Given the description of an element on the screen output the (x, y) to click on. 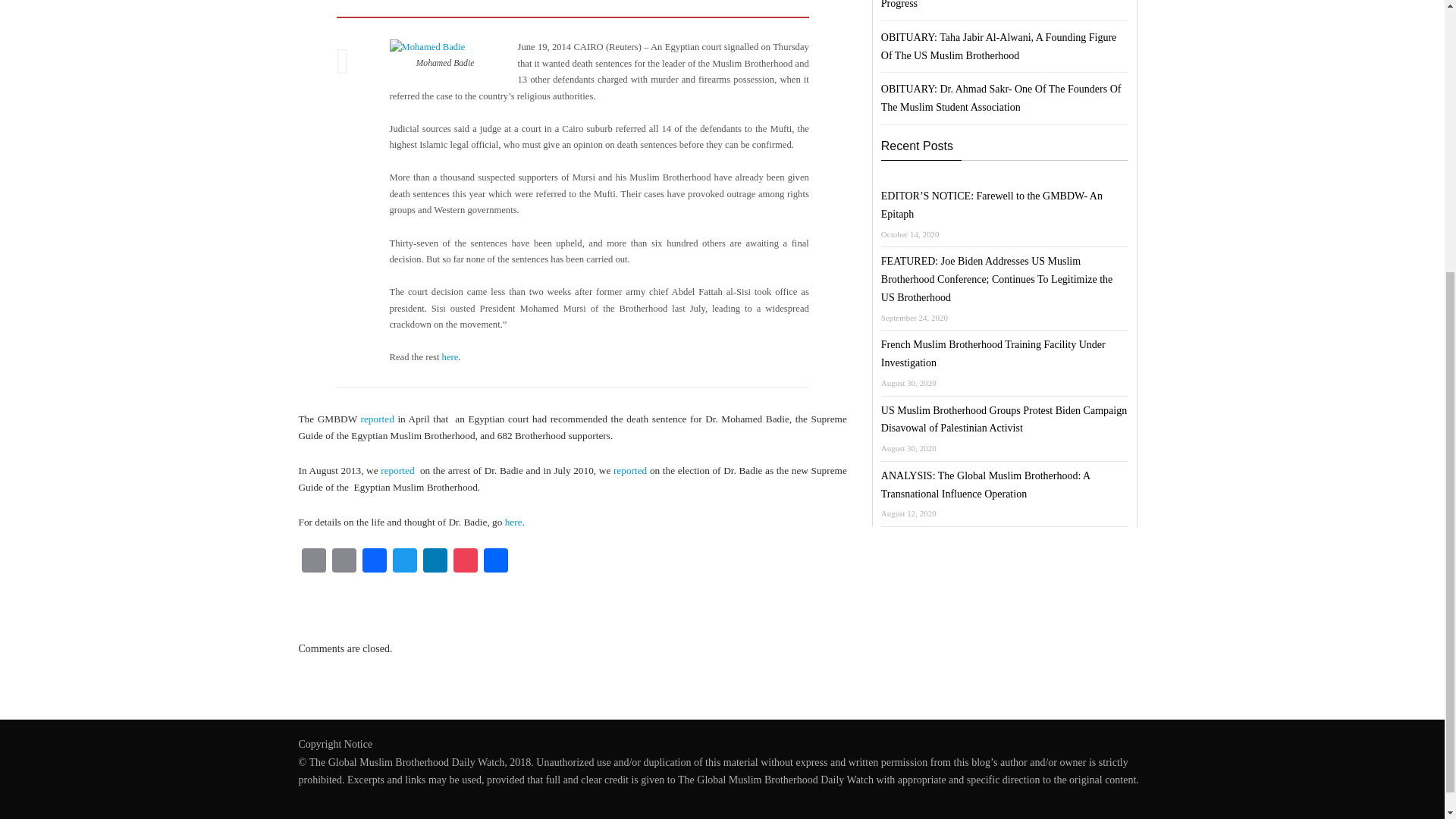
Share (495, 561)
Facebook (374, 561)
here (513, 521)
Twitter (405, 561)
LinkedIn (434, 561)
Email (313, 561)
Facebook (374, 561)
LinkedIn (434, 561)
reported (629, 470)
Print (344, 561)
